Given the description of an element on the screen output the (x, y) to click on. 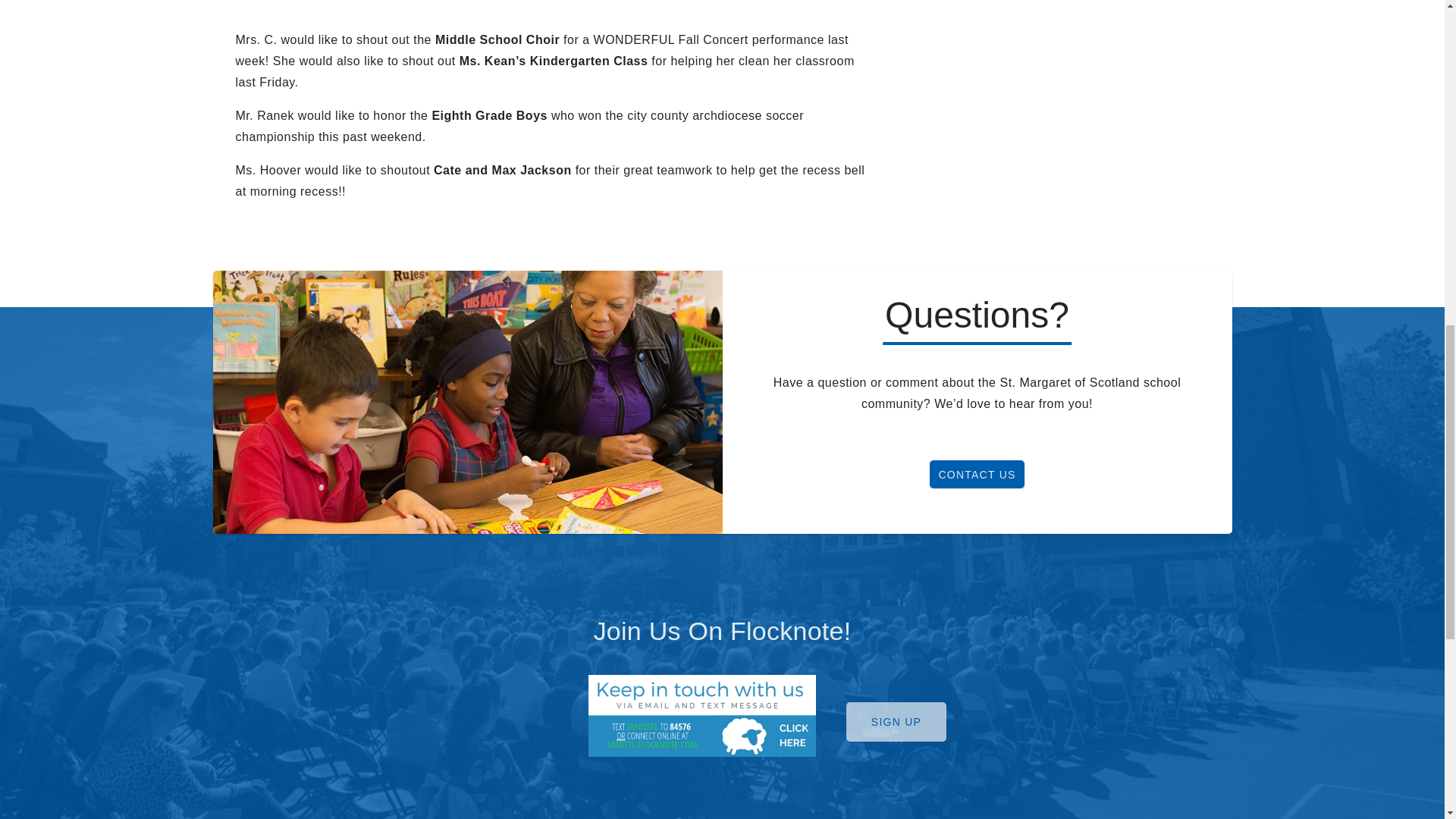
Sign Up (895, 721)
